Given the description of an element on the screen output the (x, y) to click on. 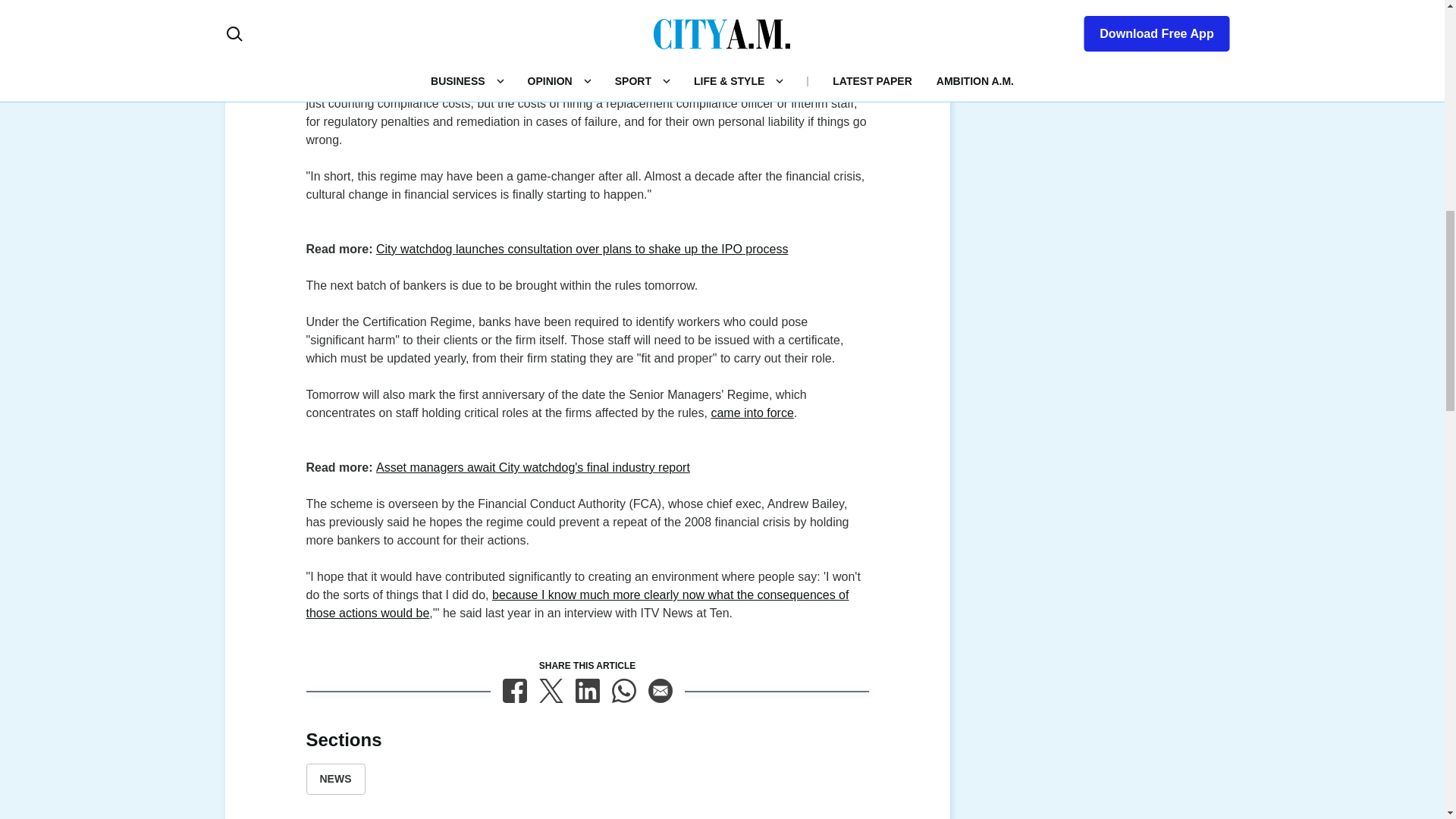
X (550, 690)
Facebook (513, 690)
LinkedIn (586, 690)
WhatsApp (622, 690)
Email (659, 690)
